Given the description of an element on the screen output the (x, y) to click on. 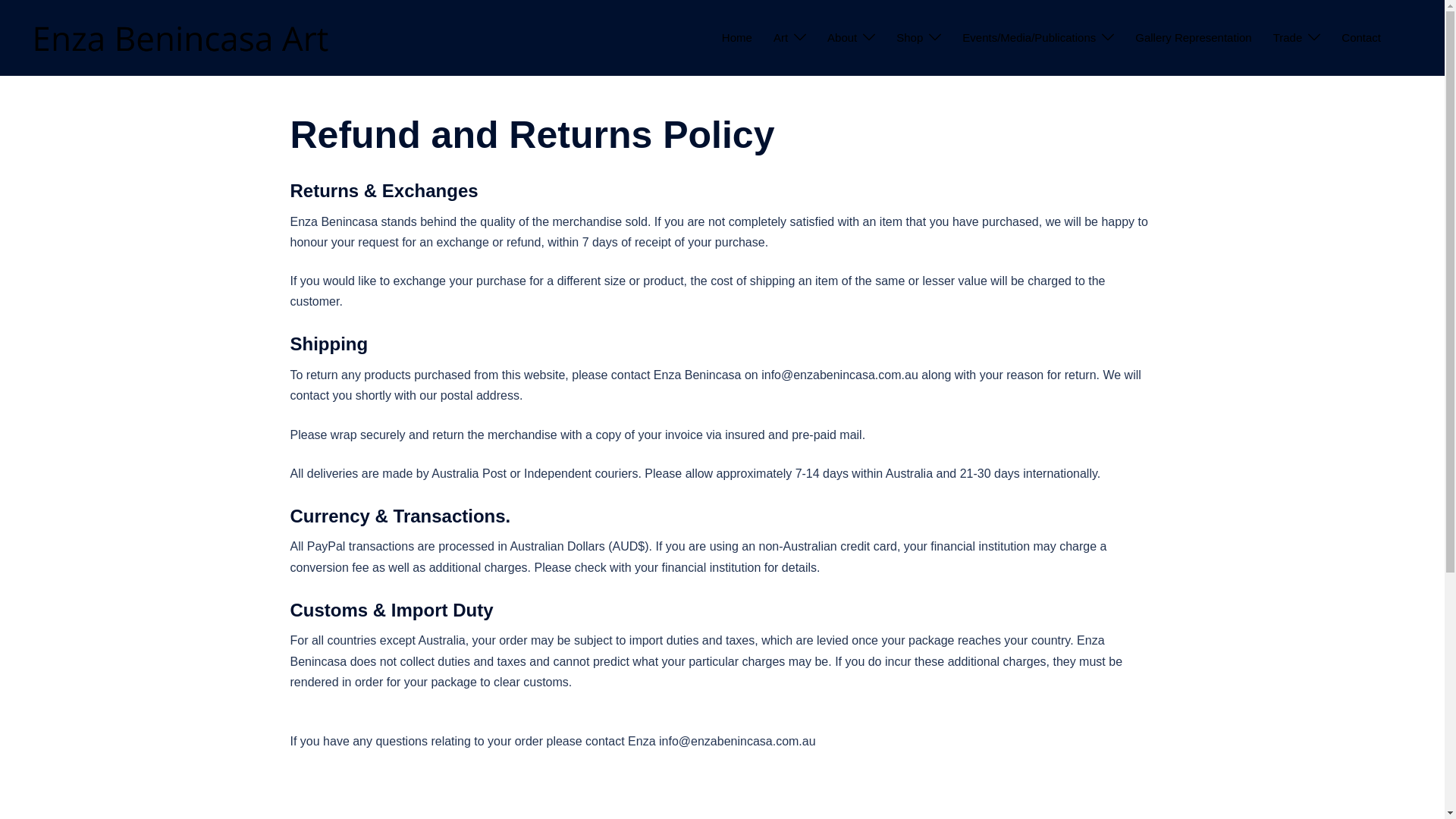
Home (737, 37)
Gallery Representation (1192, 37)
Shop (909, 37)
Trade (1287, 37)
About (842, 37)
Enza Benincasa (181, 36)
Contact (1360, 37)
